Given the description of an element on the screen output the (x, y) to click on. 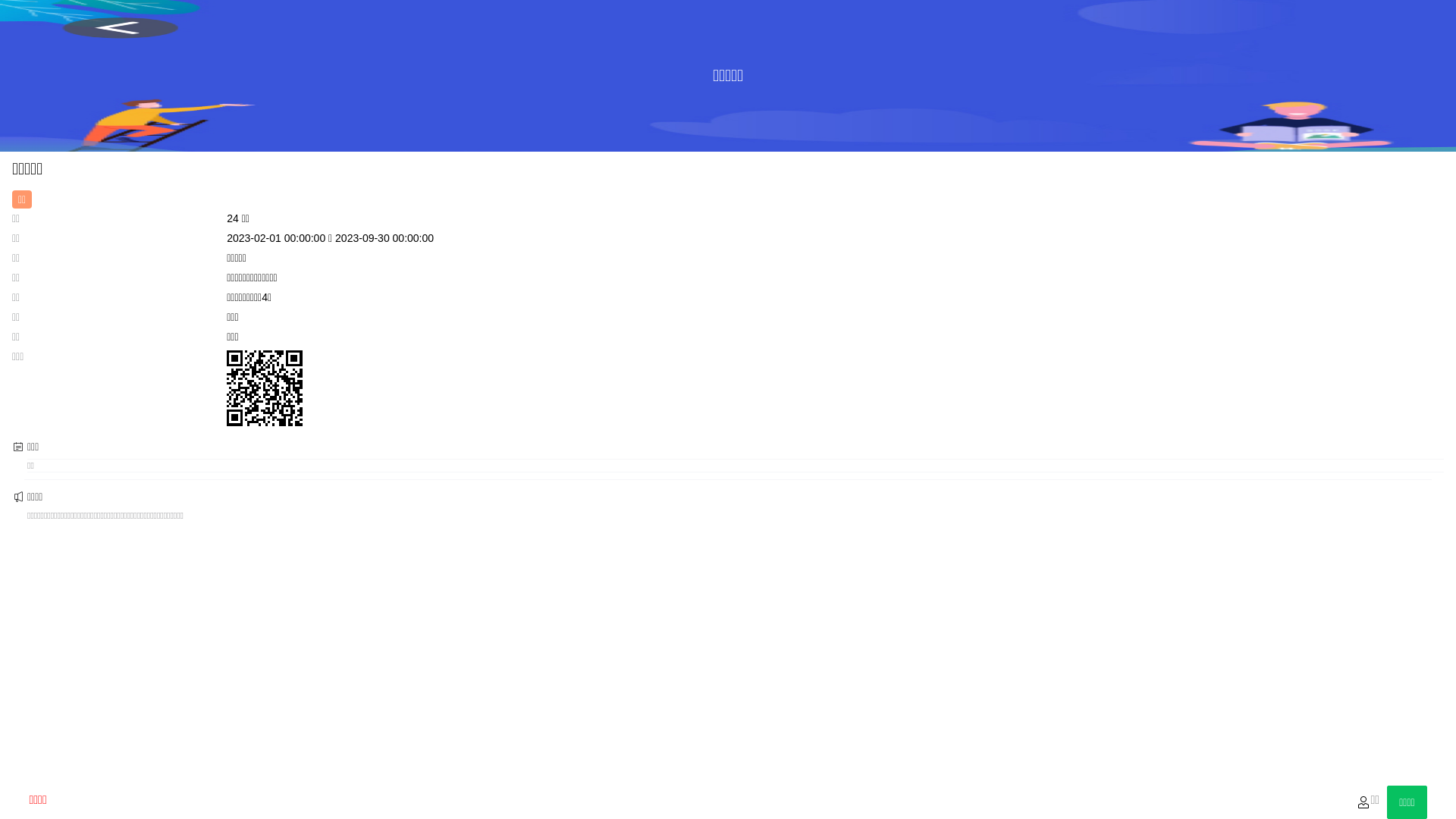
http://wztq.cc/show/155 Element type: hover (264, 388)
